Given the description of an element on the screen output the (x, y) to click on. 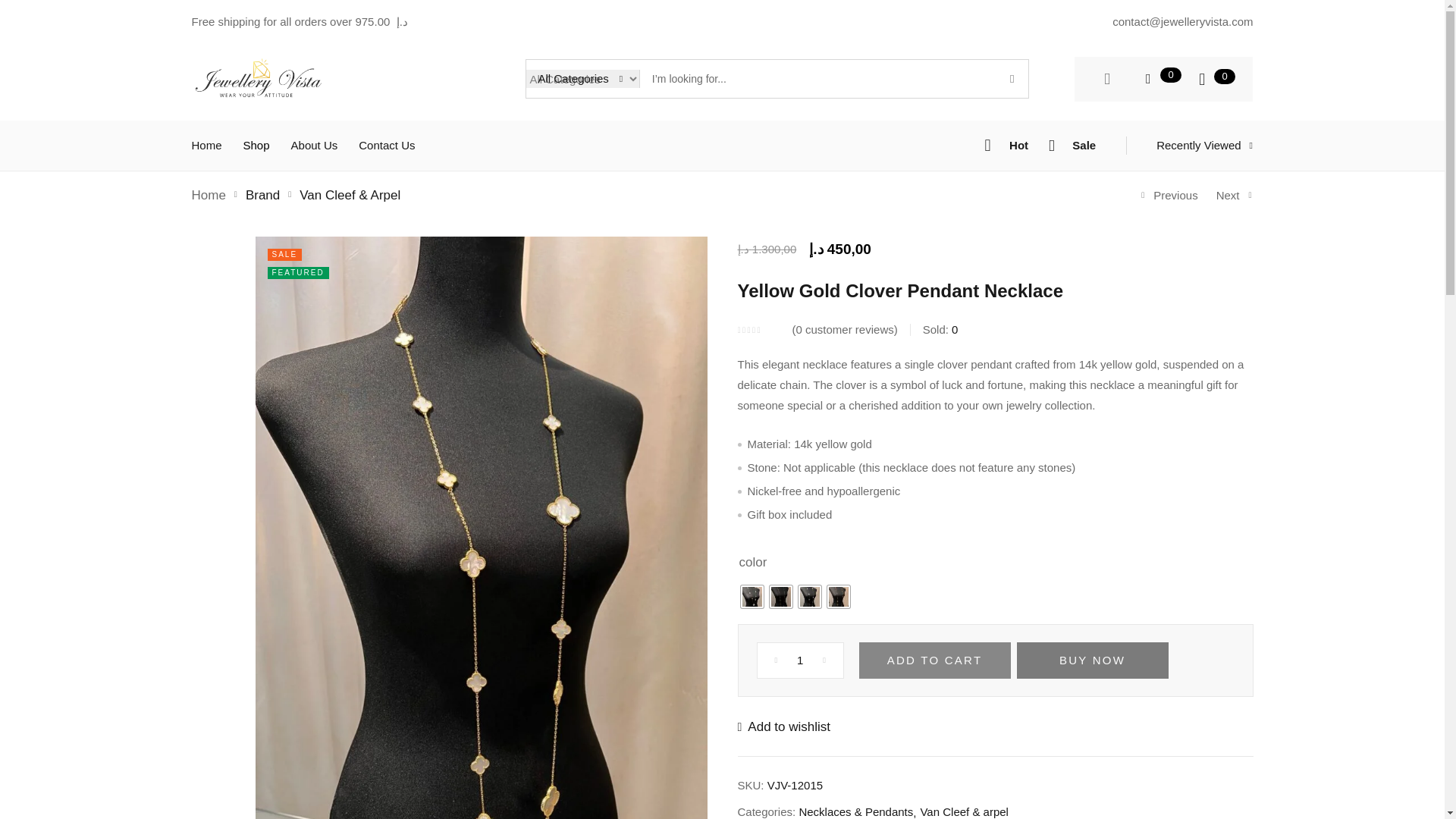
Next (1234, 195)
White Gold (750, 596)
Red Gold (837, 596)
 All Categories (582, 78)
Sale (1072, 145)
About Us (314, 144)
View your shopping cart (1201, 79)
Home (207, 195)
Brand (262, 195)
Previous (1168, 195)
0 (1147, 78)
Wishlist (782, 727)
0 (1201, 79)
Black Gold (780, 596)
Contact Us (386, 144)
